Given the description of an element on the screen output the (x, y) to click on. 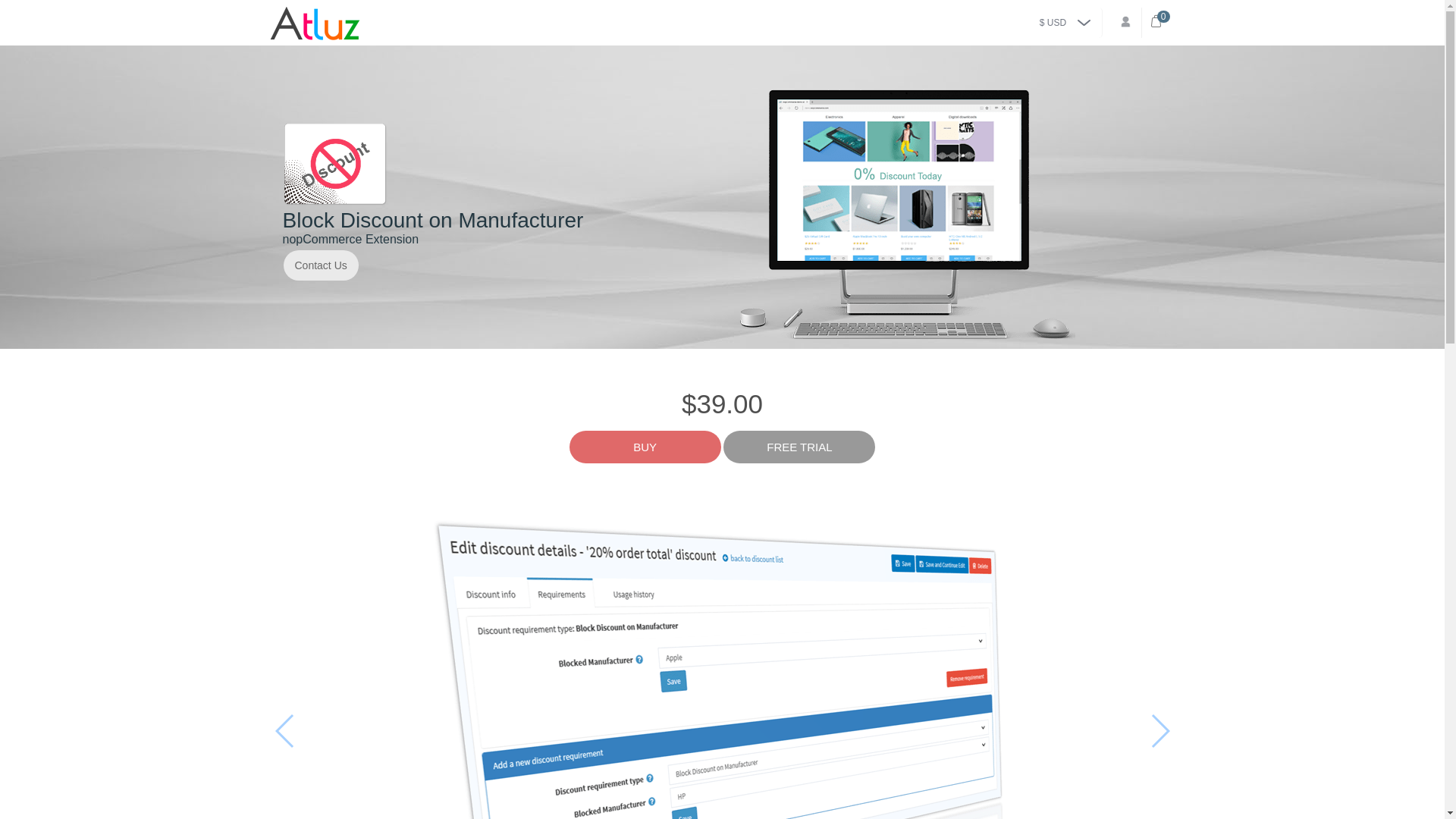
Block Discount on Manufacturer Logo (335, 163)
Atluz Block Discount on Manufacturer Banner (904, 213)
BUY (644, 446)
FREE TRIAL (799, 446)
0 (1159, 21)
Contact Us (320, 265)
